Given the description of an element on the screen output the (x, y) to click on. 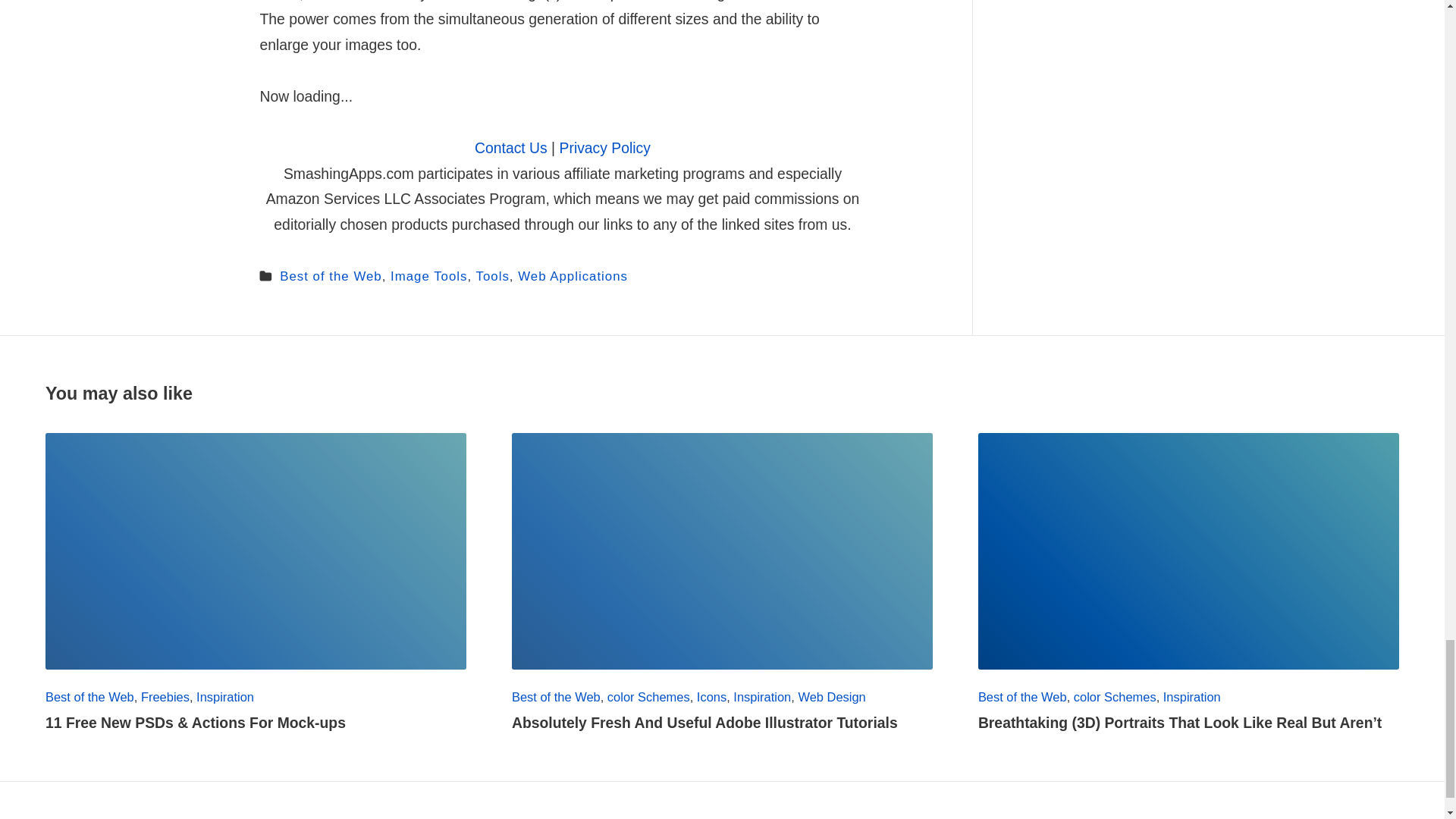
Contact Us (510, 147)
Image Tools (428, 276)
Best of the Web (330, 276)
Privacy Policy (604, 147)
Web Applications (572, 276)
Tools (492, 276)
